Given the description of an element on the screen output the (x, y) to click on. 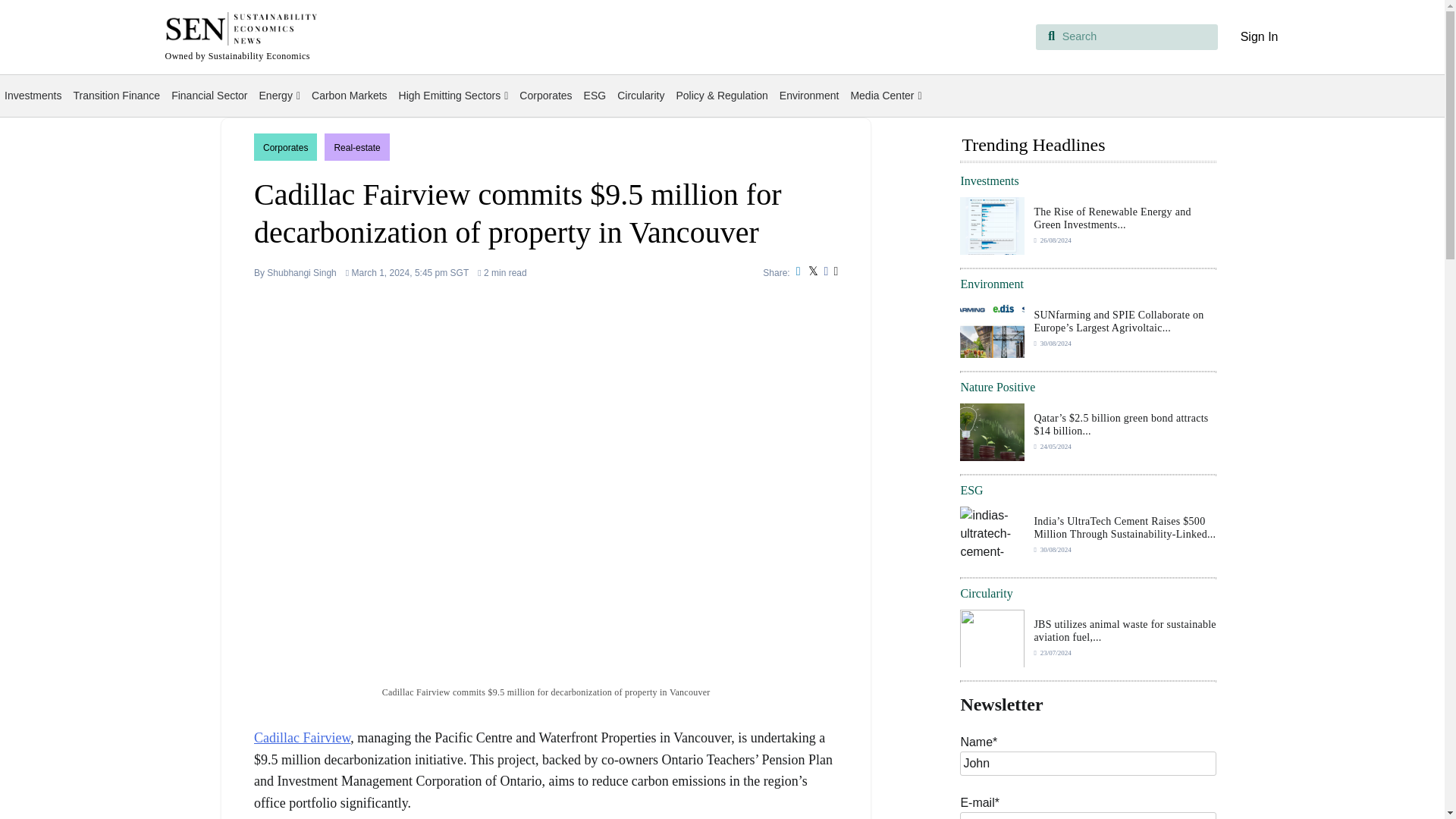
Transition Finance (116, 95)
Sign In (1259, 36)
Investments (32, 95)
Energy (279, 95)
Financial Sector (209, 95)
